Given the description of an element on the screen output the (x, y) to click on. 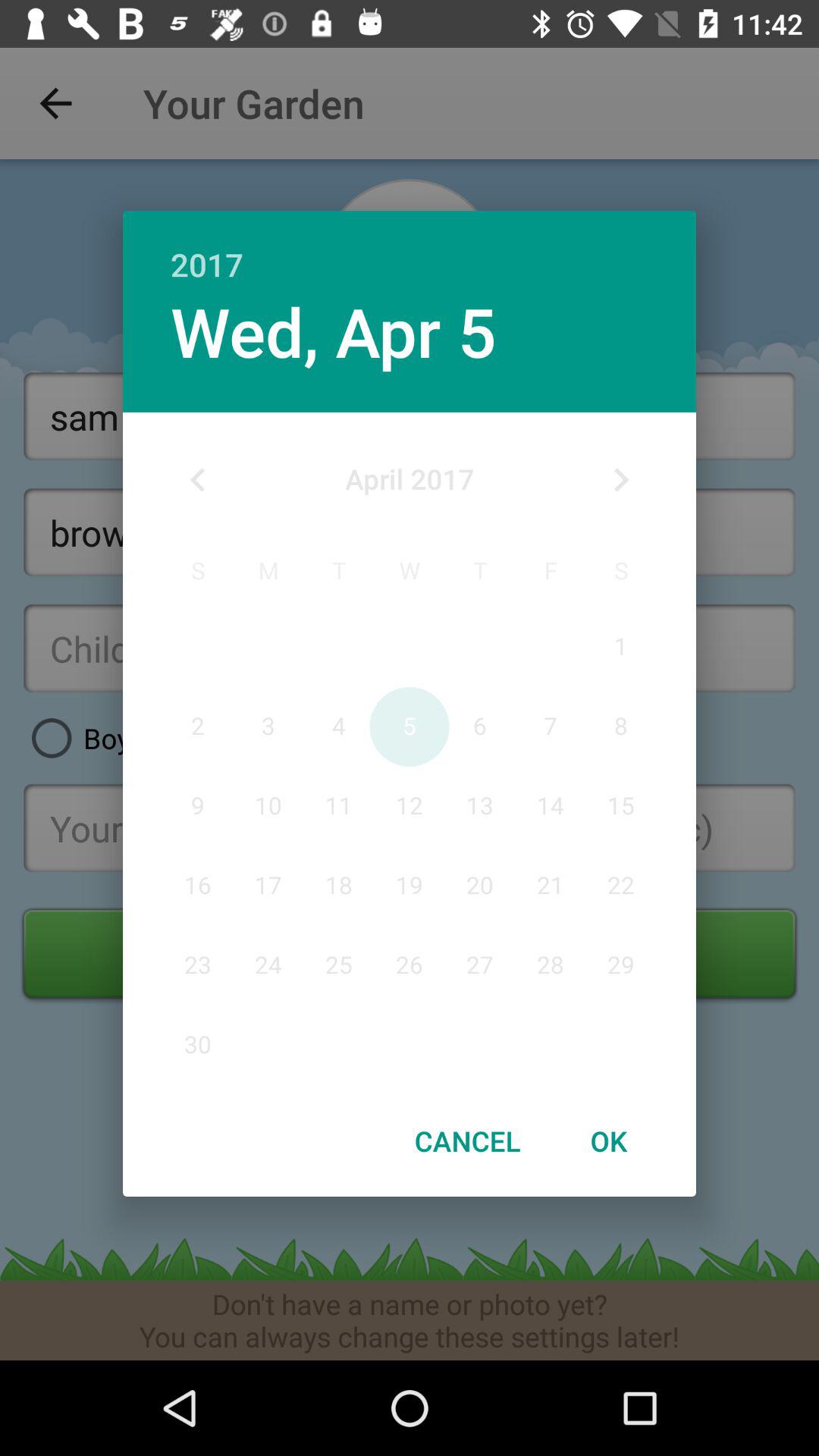
launch icon below 2017 icon (333, 331)
